Given the description of an element on the screen output the (x, y) to click on. 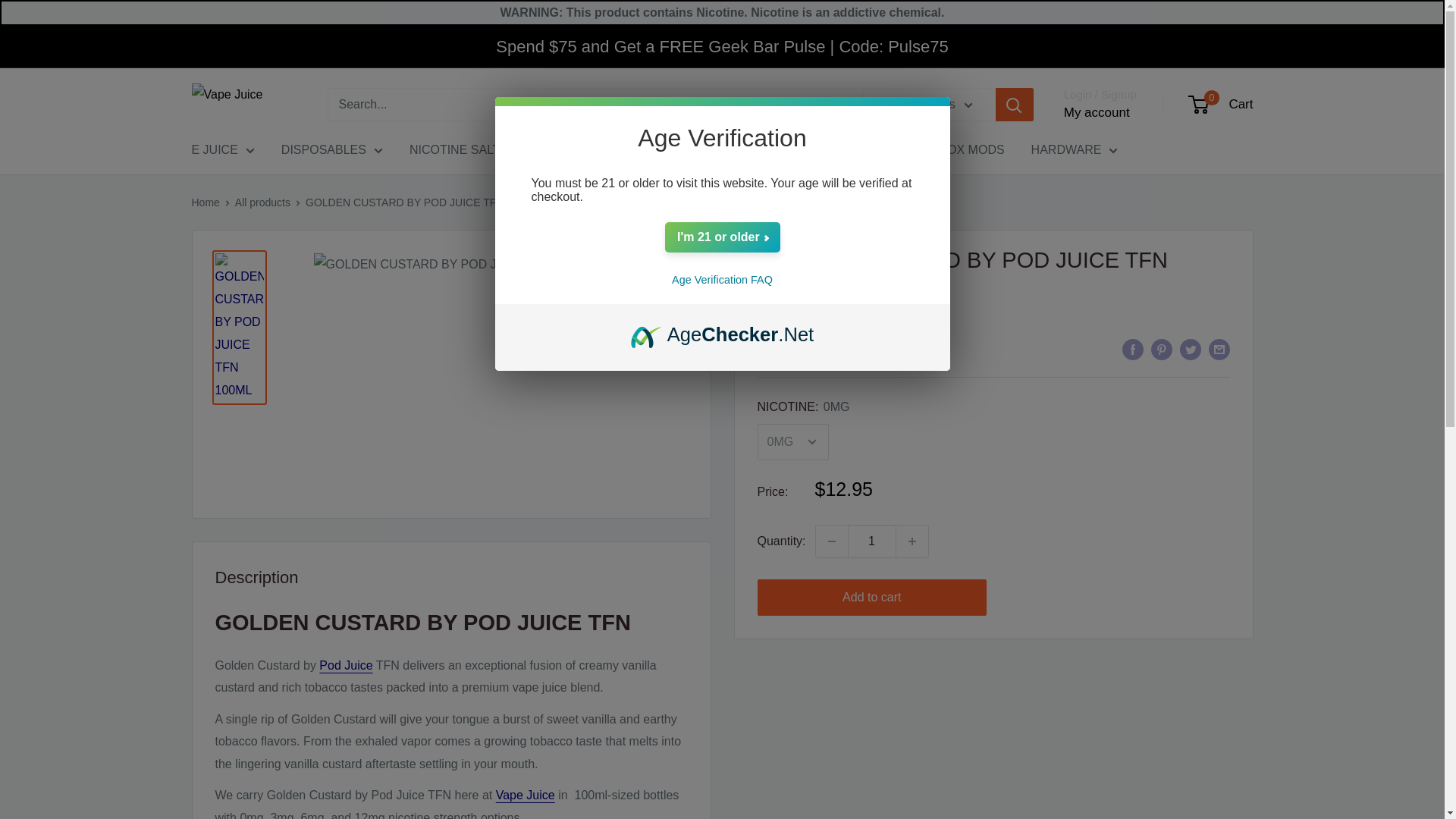
Increase quantity by 1 (912, 541)
Decrease quantity by 1 (831, 541)
1 (871, 541)
